Given the description of an element on the screen output the (x, y) to click on. 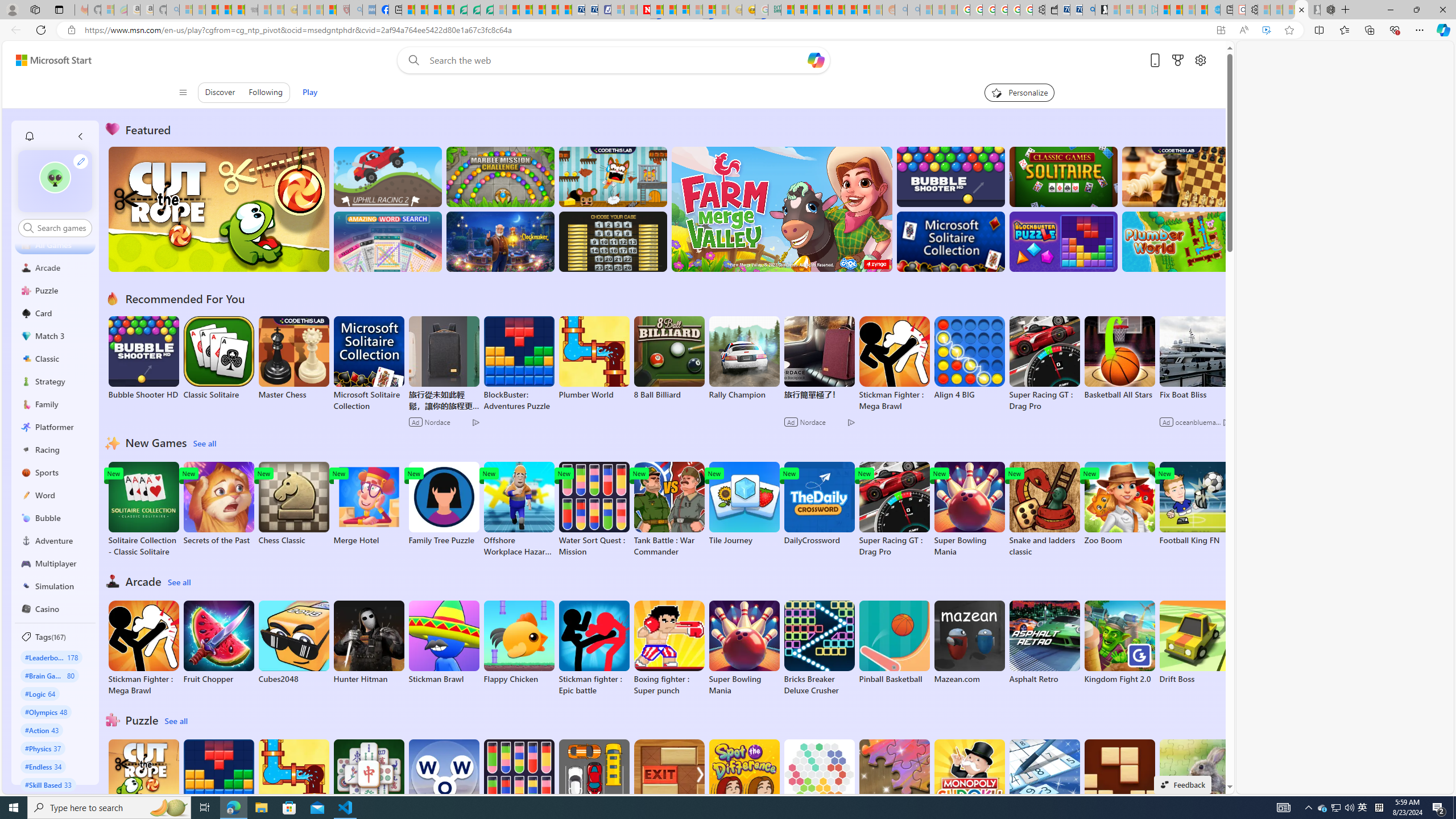
Personalize your feed" (1019, 92)
Class: search-icon (28, 227)
